Given the description of an element on the screen output the (x, y) to click on. 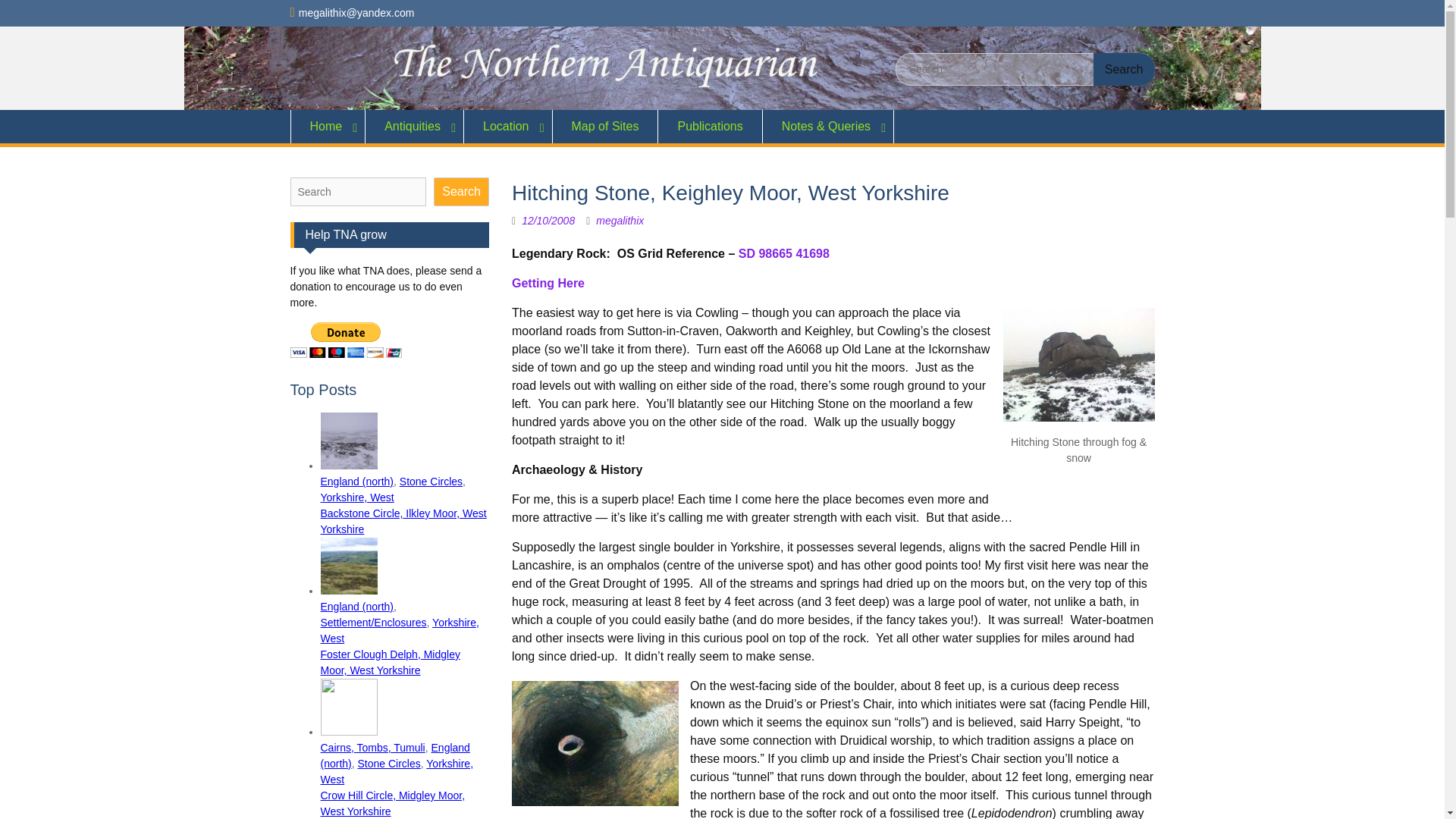
Search for: (1024, 69)
Search (1123, 69)
hitching-stone-hole1 (595, 742)
Search (1123, 69)
Home (327, 126)
Location (508, 126)
Search (1123, 69)
Antiquities (414, 126)
